Given the description of an element on the screen output the (x, y) to click on. 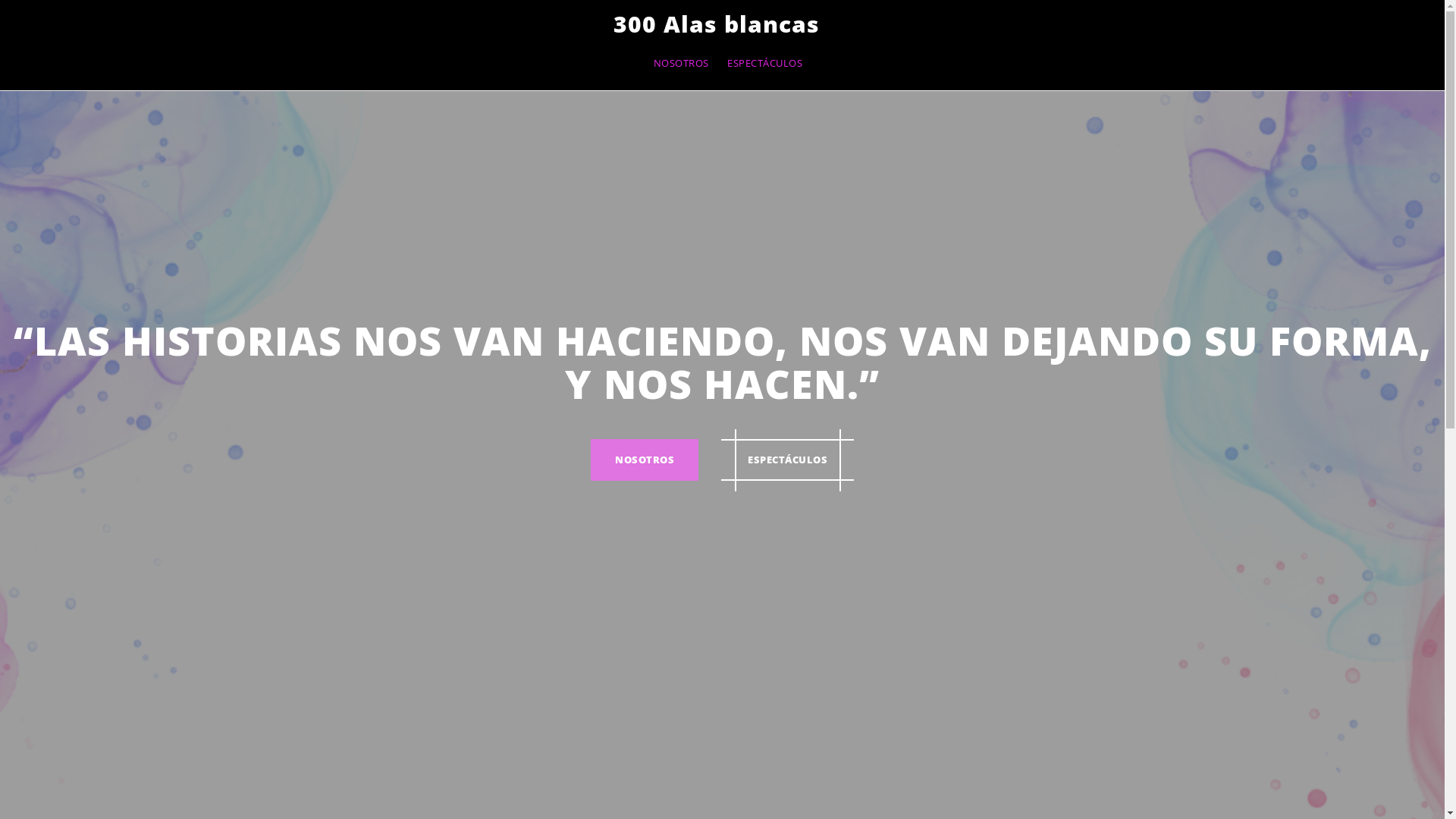
300 Alas blancas Element type: text (716, 23)
NOSOTROS Element type: text (644, 459)
NOSOTROS Element type: text (681, 63)
